Given the description of an element on the screen output the (x, y) to click on. 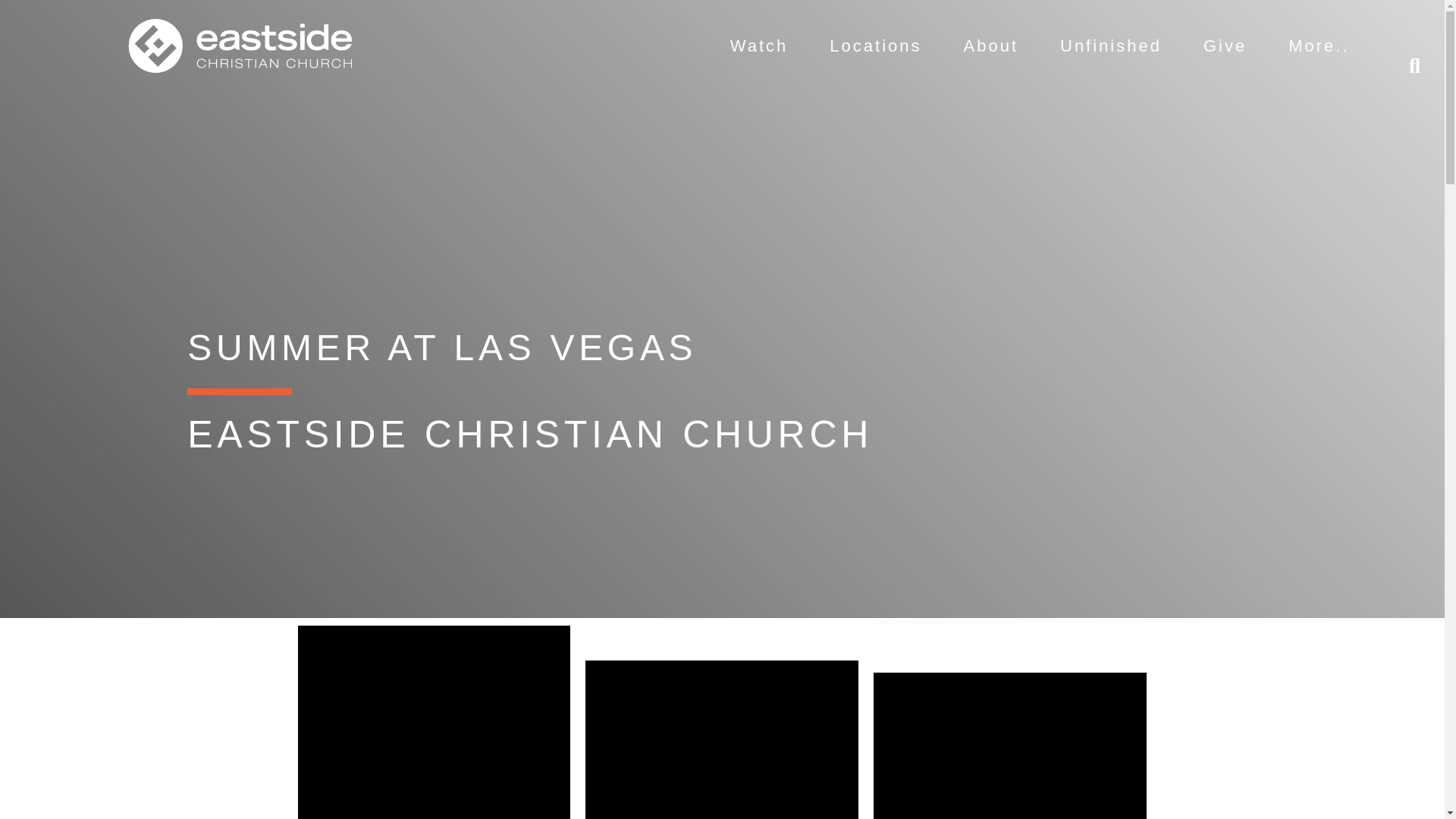
Locations (874, 46)
Unfinished (1110, 46)
Give (1225, 46)
About (990, 46)
vimeo Video Player (1010, 745)
vimeo Video Player (722, 739)
vimeo Video Player (433, 722)
Watch (758, 46)
More.. (1318, 46)
